Given the description of an element on the screen output the (x, y) to click on. 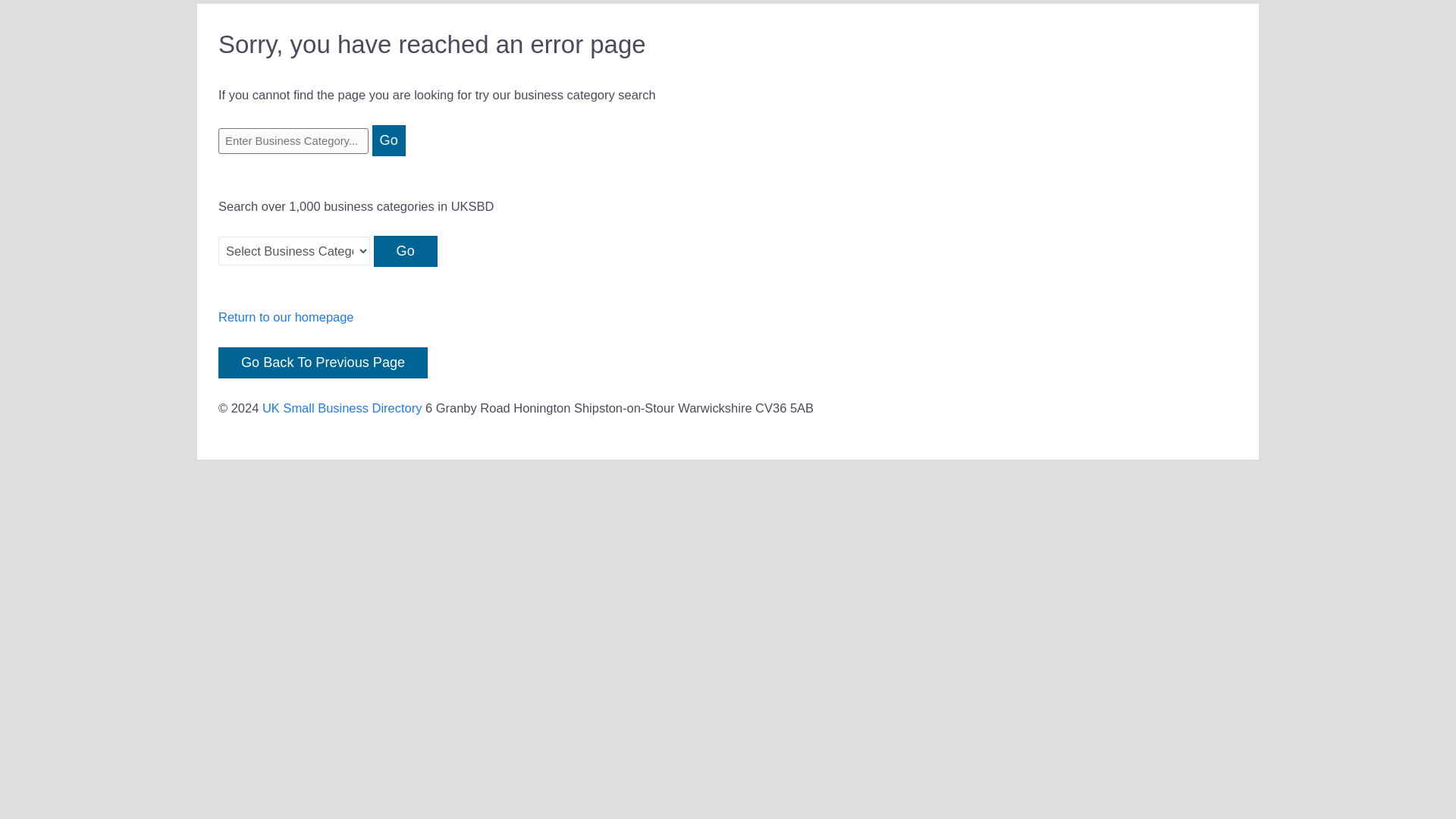
Go (389, 140)
UK Small Business Directory (342, 407)
Go Back To Previous Page (323, 362)
Go (389, 140)
Go (406, 250)
Return to our homepage (285, 316)
